Given the description of an element on the screen output the (x, y) to click on. 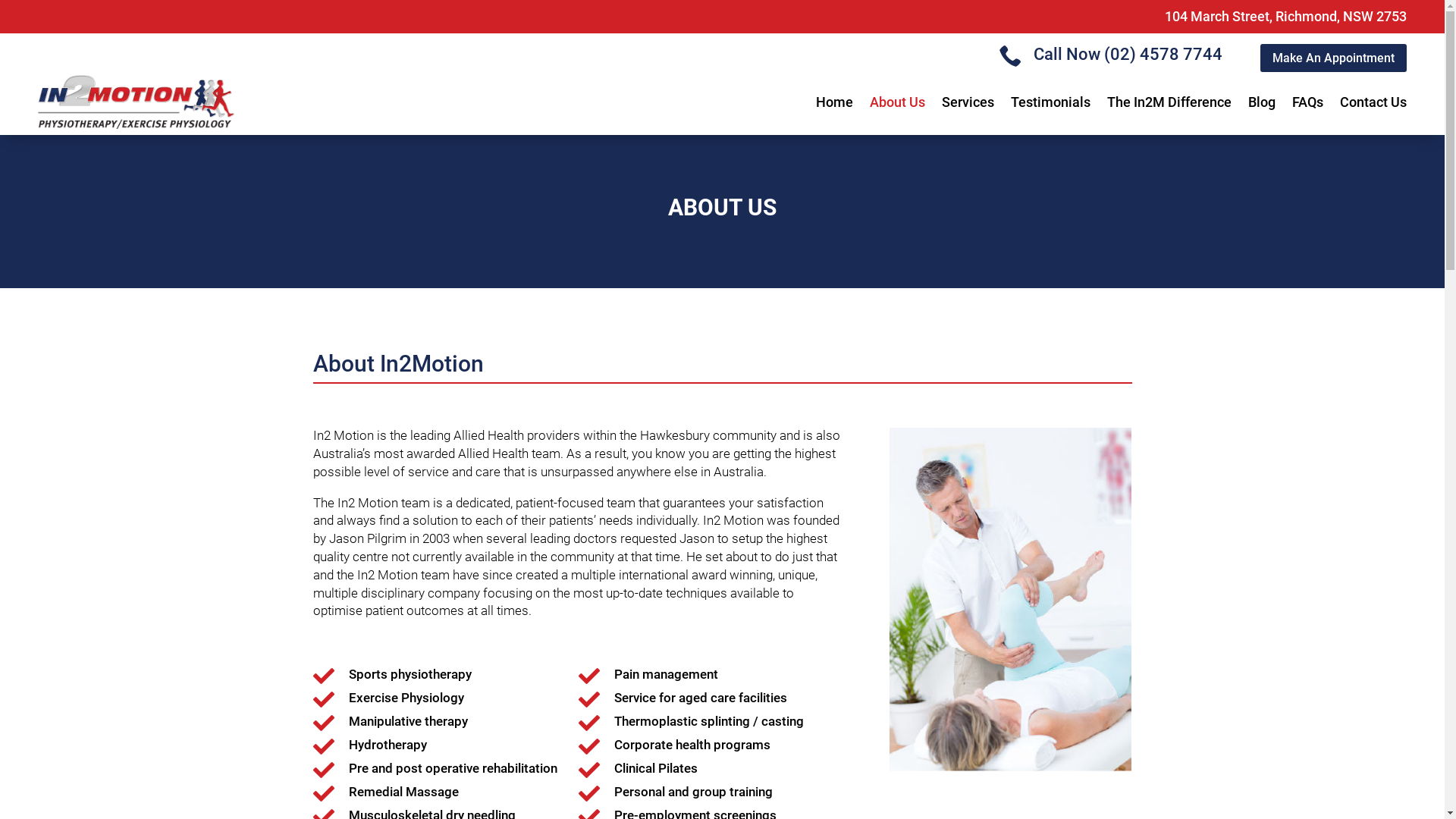
Call Now (02) 4578 7744 Element type: text (1127, 53)
about Element type: hover (1009, 598)
Home Element type: text (834, 102)
Testimonials Element type: text (1050, 102)
About Us Element type: text (897, 102)
Services Element type: text (967, 102)
The In2M Difference Element type: text (1169, 102)
Blog Element type: text (1261, 102)
FAQs Element type: text (1307, 102)
Contact Us Element type: text (1372, 102)
Make An Appointment Element type: text (1333, 57)
